Given the description of an element on the screen output the (x, y) to click on. 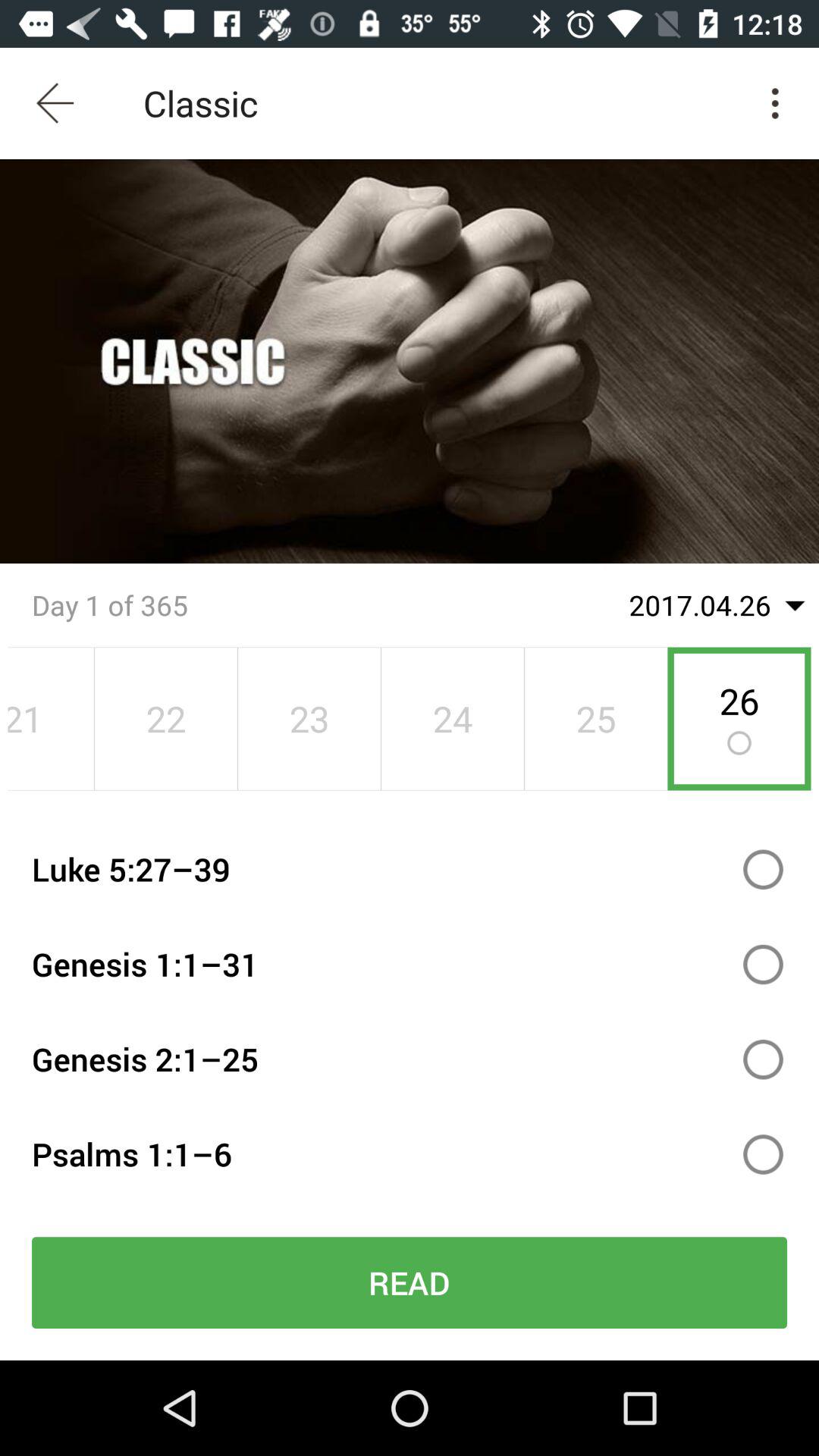
check genesis 2:1-25 (763, 1059)
